Given the description of an element on the screen output the (x, y) to click on. 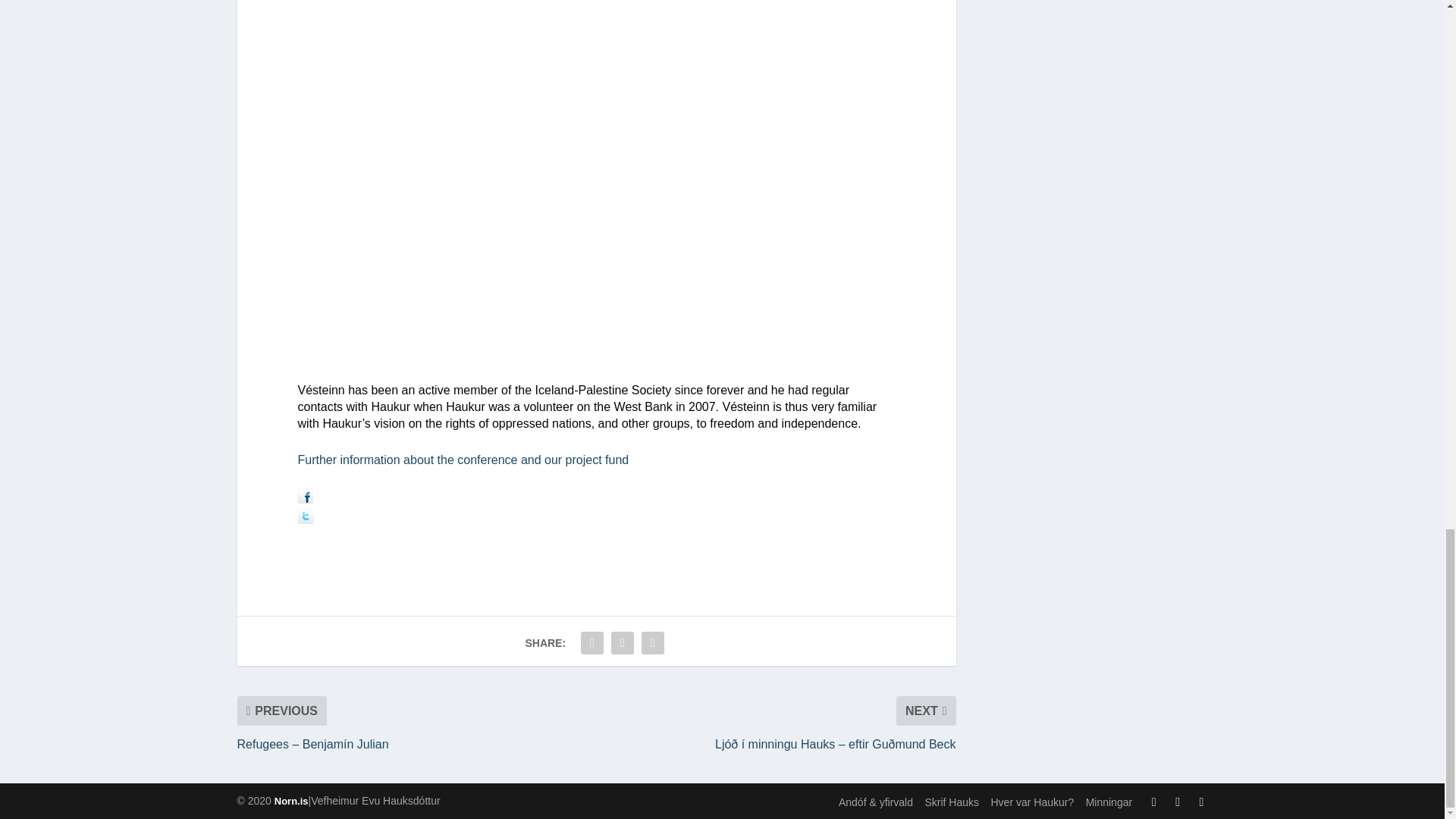
Share to Facebook (305, 499)
Share to Twitter (305, 519)
